Given the description of an element on the screen output the (x, y) to click on. 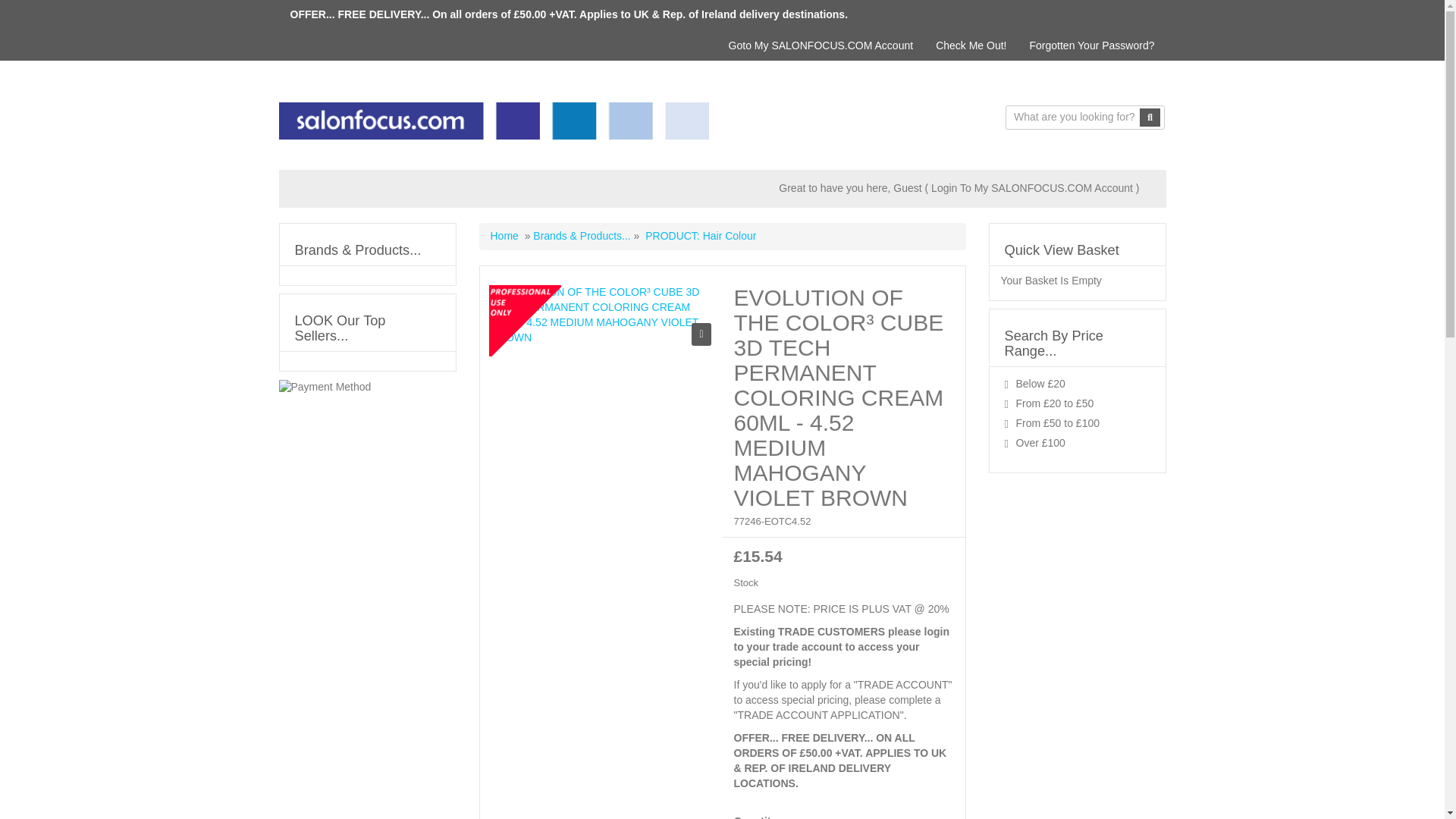
Login To My SALONFOCUS.COM Account (1031, 187)
Payment Method (325, 387)
Home (503, 235)
PRODUCT: Hair Colour (700, 235)
Forgotten Your Password? (1091, 45)
Check Me Out! (970, 45)
Goto My SALONFOCUS.COM Account (820, 45)
